Given the description of an element on the screen output the (x, y) to click on. 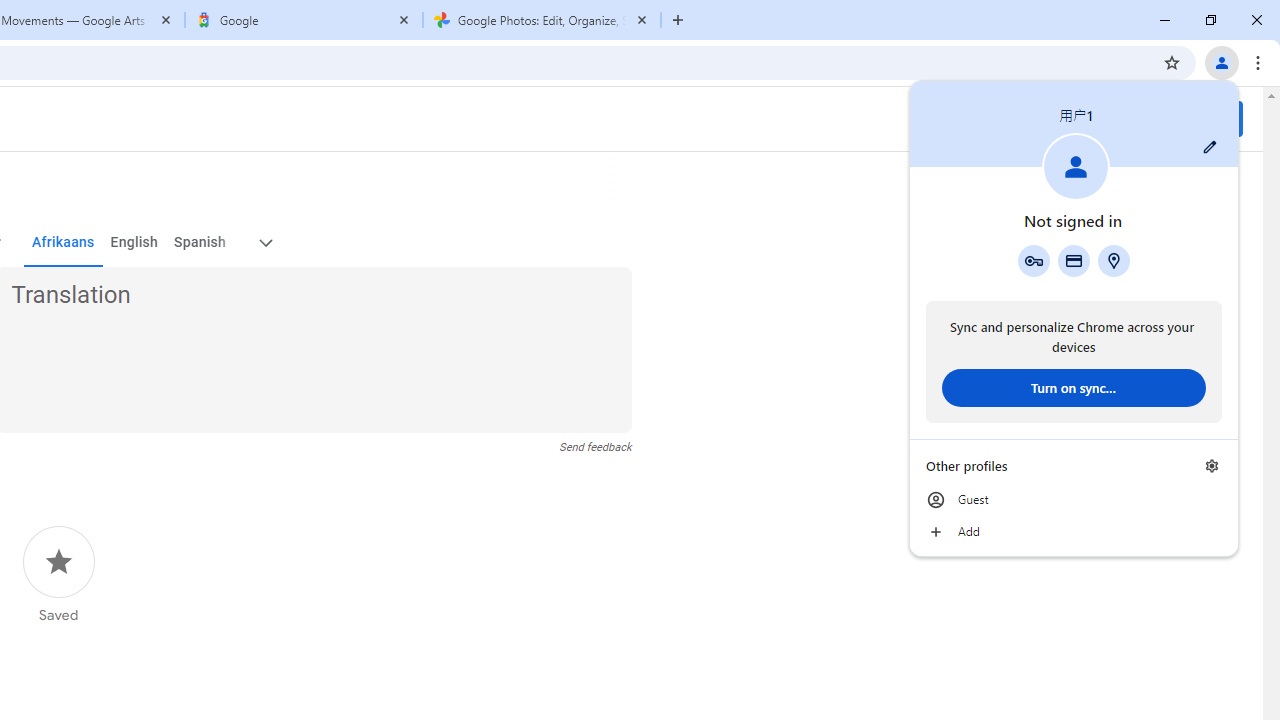
Afrikaans (62, 242)
Spanish (199, 242)
Add (1073, 531)
Payment methods (1074, 260)
